Given the description of an element on the screen output the (x, y) to click on. 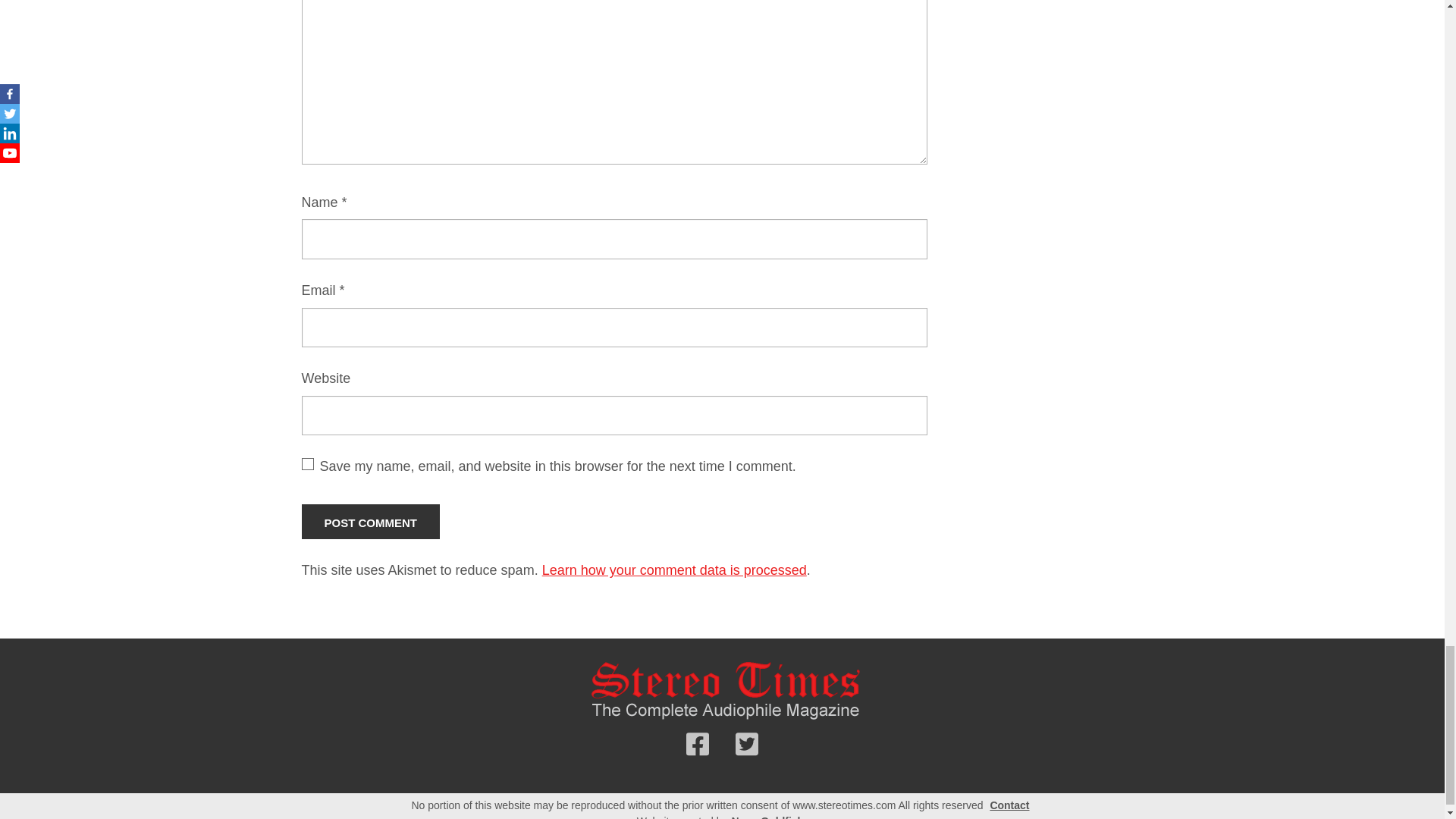
Learn how your comment data is processed (673, 570)
Contact (1008, 805)
Post Comment (371, 521)
Post Comment (371, 521)
